Given the description of an element on the screen output the (x, y) to click on. 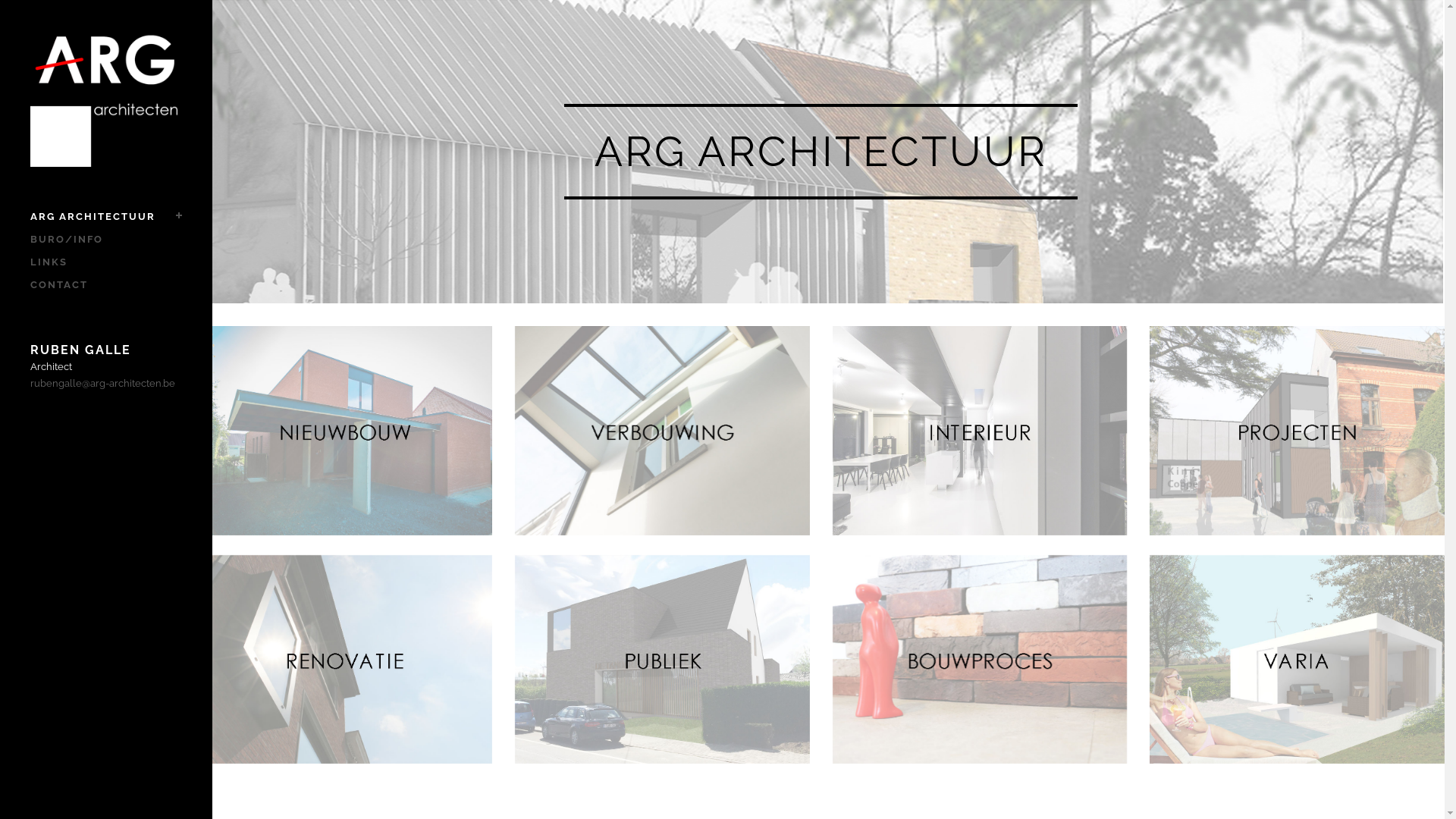
ARG ARCHITECTUUR Element type: text (106, 216)
CONTACT Element type: text (106, 284)
LINKS Element type: text (106, 262)
BURO/INFO Element type: text (106, 239)
rubengalle@arg-architecten.be Element type: text (102, 383)
